Given the description of an element on the screen output the (x, y) to click on. 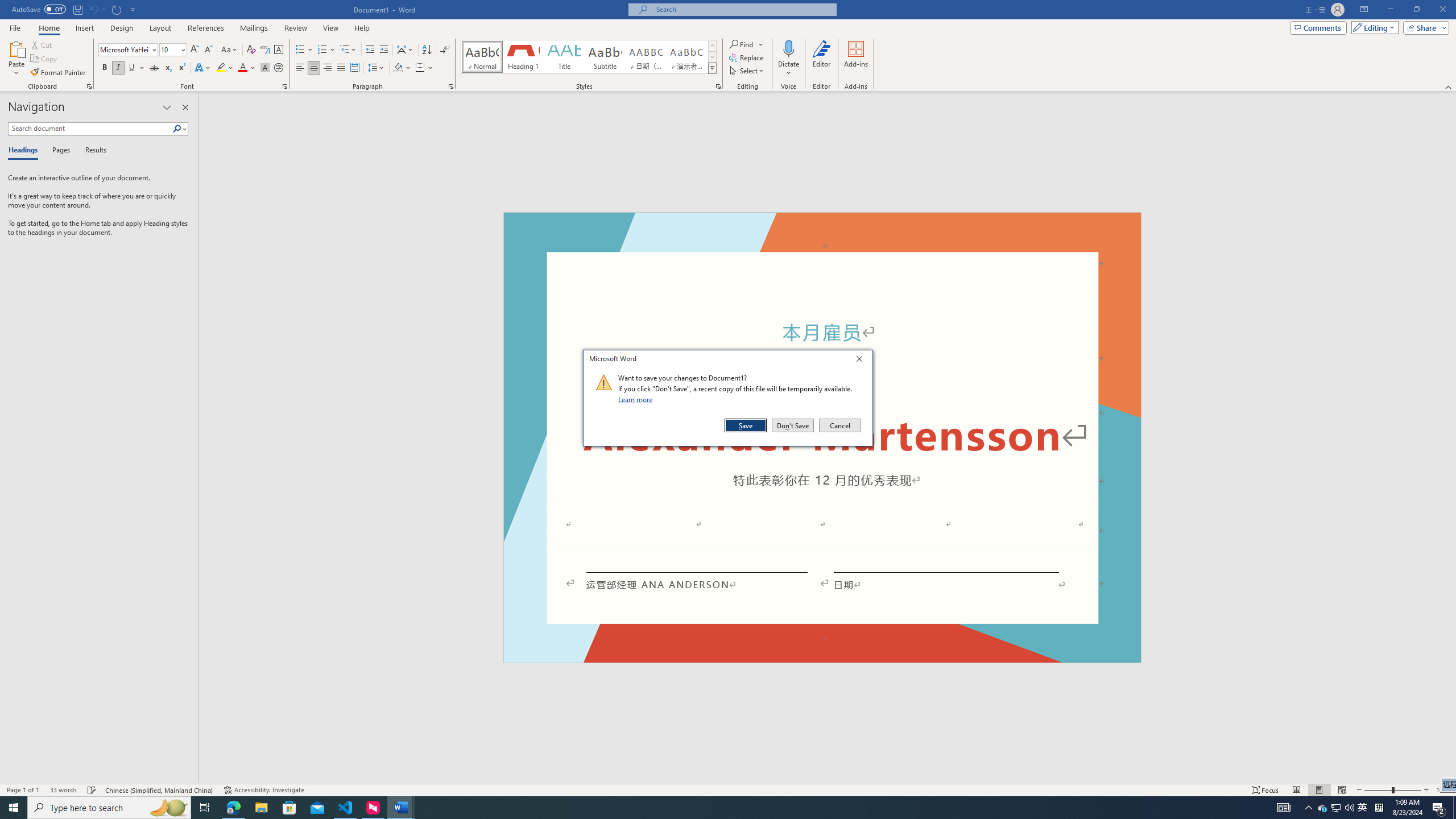
Can't Undo (92, 9)
